Given the description of an element on the screen output the (x, y) to click on. 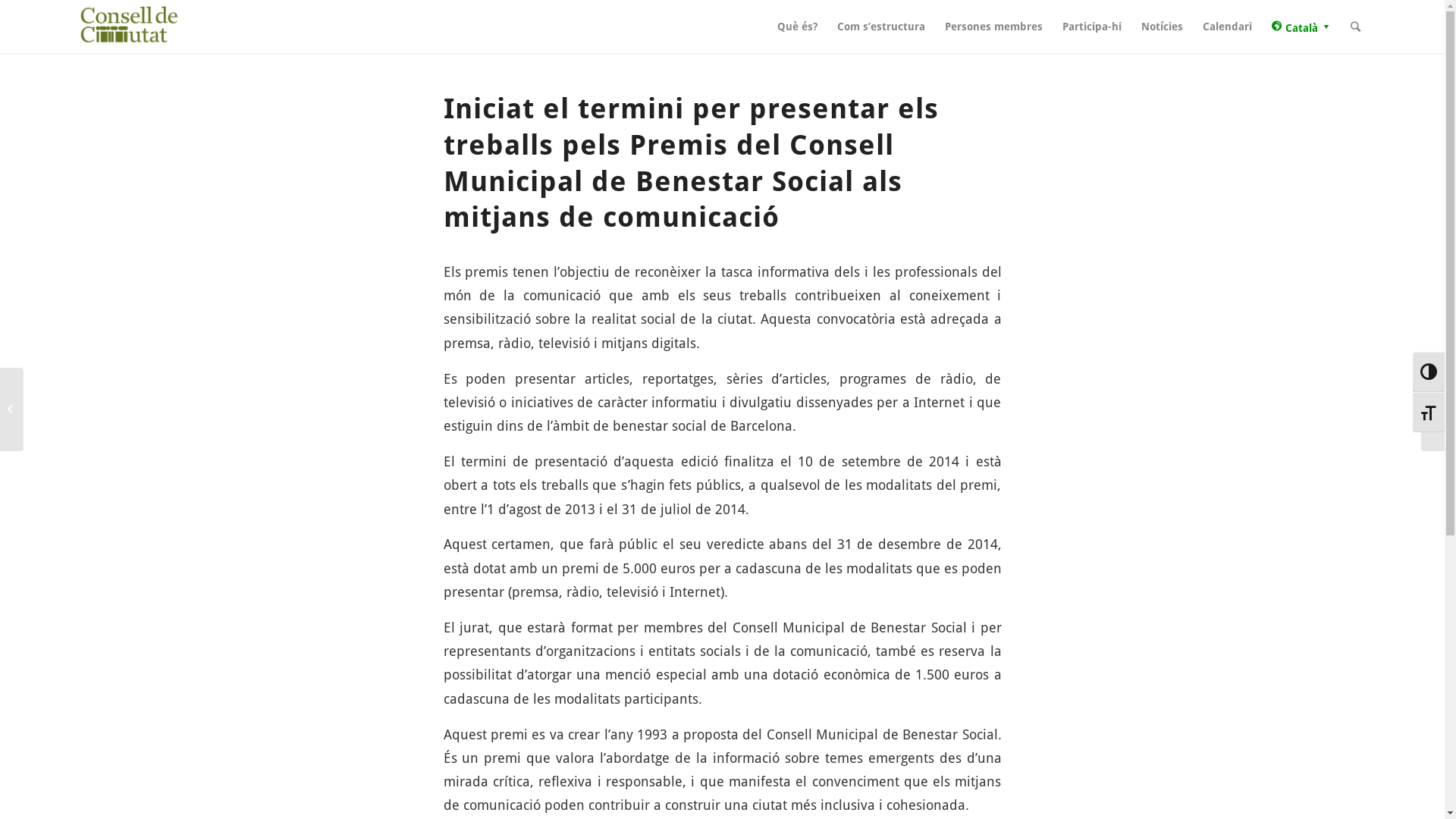
Participa-hi Element type: text (1091, 26)
Toggle High Contrast Element type: text (1428, 371)
Toggle Font size Element type: text (1428, 412)
Persones membres Element type: text (993, 26)
Calendari Element type: text (1226, 26)
